Given the description of an element on the screen output the (x, y) to click on. 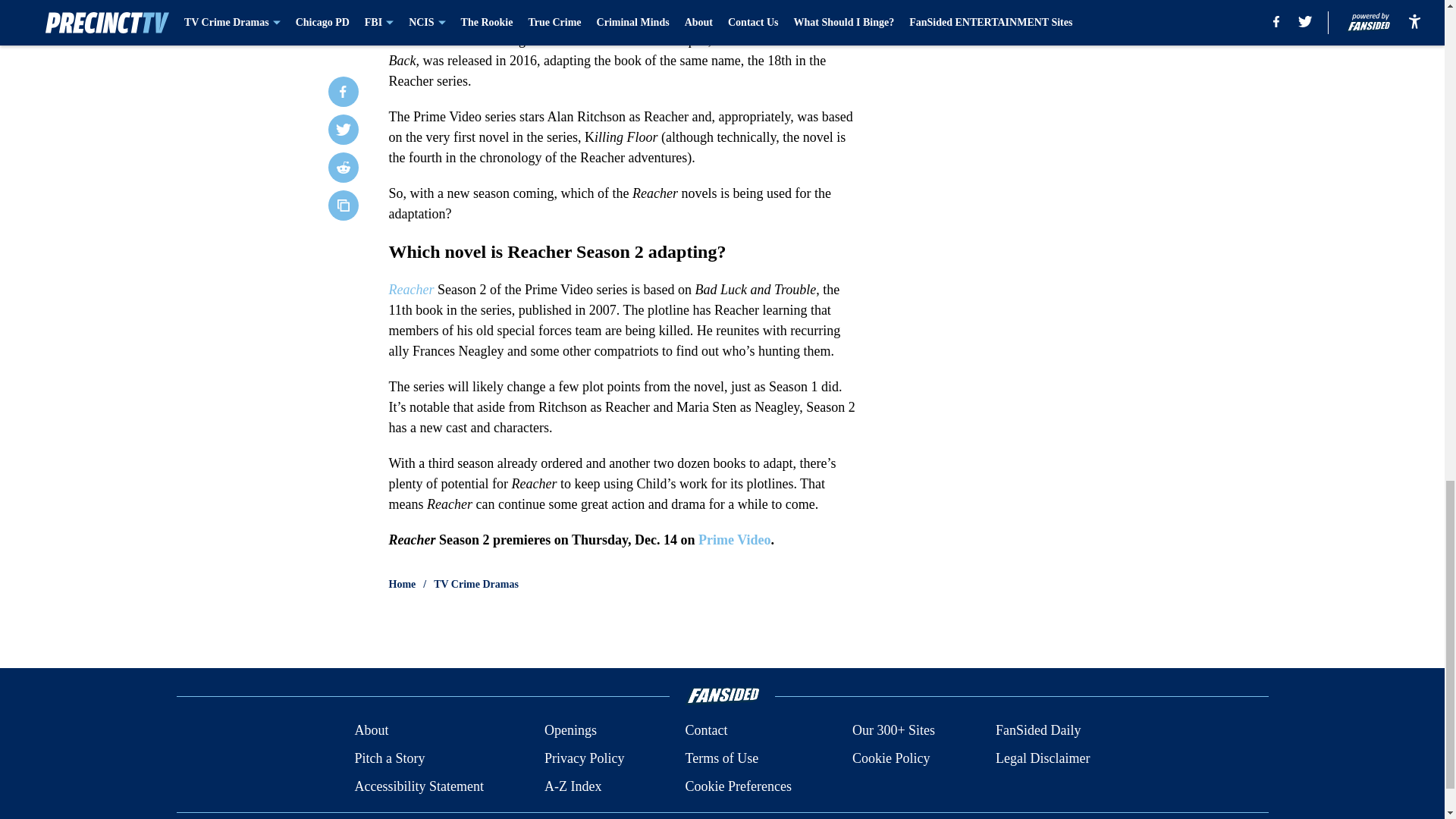
TV Crime Dramas (475, 584)
Home (401, 584)
Openings (570, 730)
Contact (705, 730)
About (370, 730)
Reacher (412, 289)
Prime Video (734, 539)
